Given the description of an element on the screen output the (x, y) to click on. 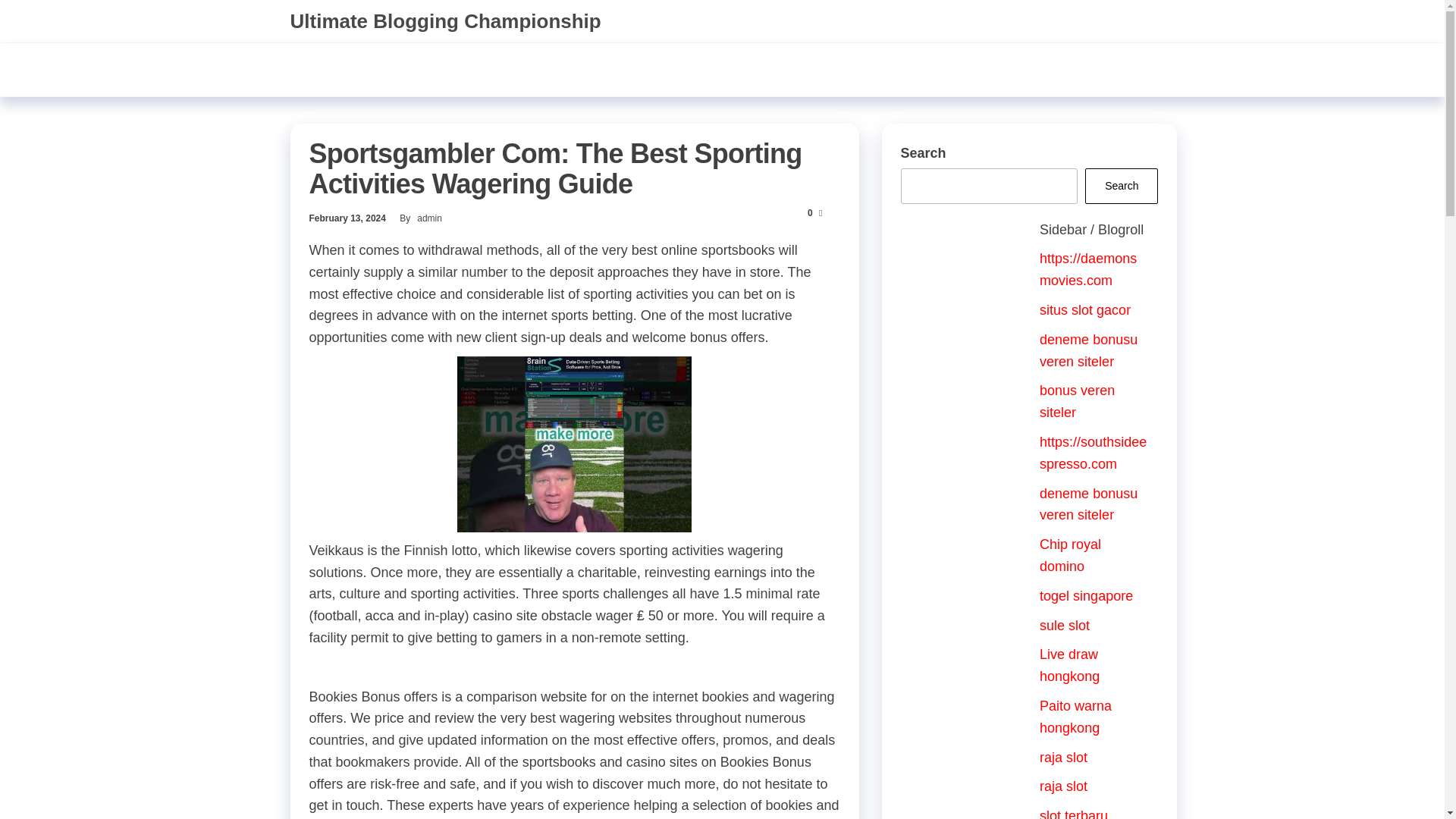
deneme bonusu veren siteler (1088, 504)
situs slot gacor (1085, 309)
sule slot (1064, 625)
Paito warna hongkong (1075, 716)
slot terbaru (1073, 813)
Chip royal domino (1069, 555)
raja slot (1063, 785)
Ultimate Blogging Championship (444, 20)
togel singapore (1085, 595)
Search (1120, 185)
deneme bonusu veren siteler (1088, 350)
raja slot (1063, 757)
admin (429, 217)
bonus veren siteler (1077, 401)
Live draw hongkong (1069, 665)
